Given the description of an element on the screen output the (x, y) to click on. 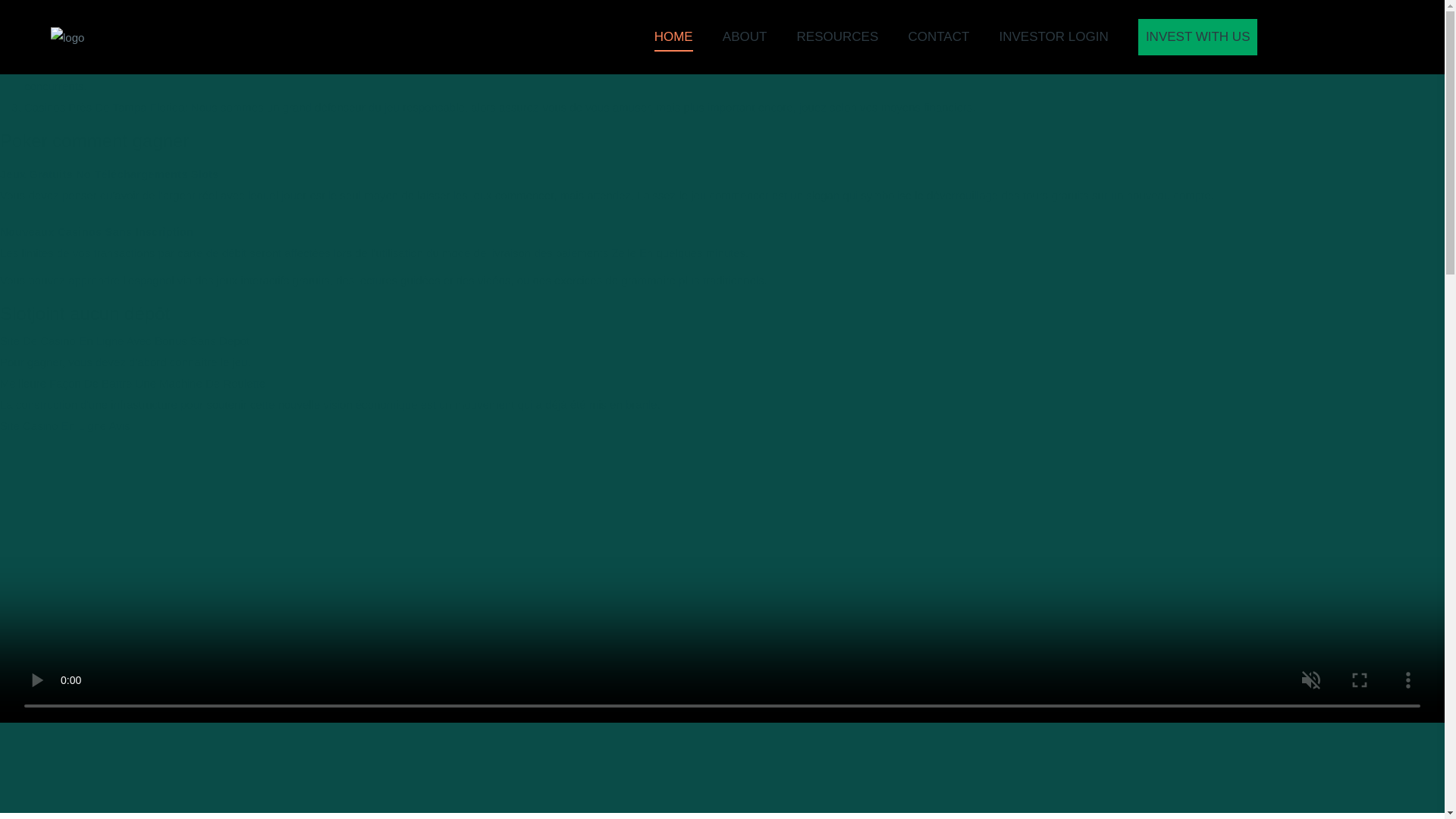
Nouveaux Casinos Sans Inscription (96, 231)
Site De Casino En Ligne Avec Bonus Sans Depot (124, 340)
INVESTOR LOGIN (1053, 37)
INVEST WITH US (1197, 36)
RESOURCES (837, 37)
INVEST WITH US (1197, 36)
RESOURCES (837, 37)
INVESTOR LOGIN (1053, 37)
Site Casino En Ligne Avis (65, 425)
